Given the description of an element on the screen output the (x, y) to click on. 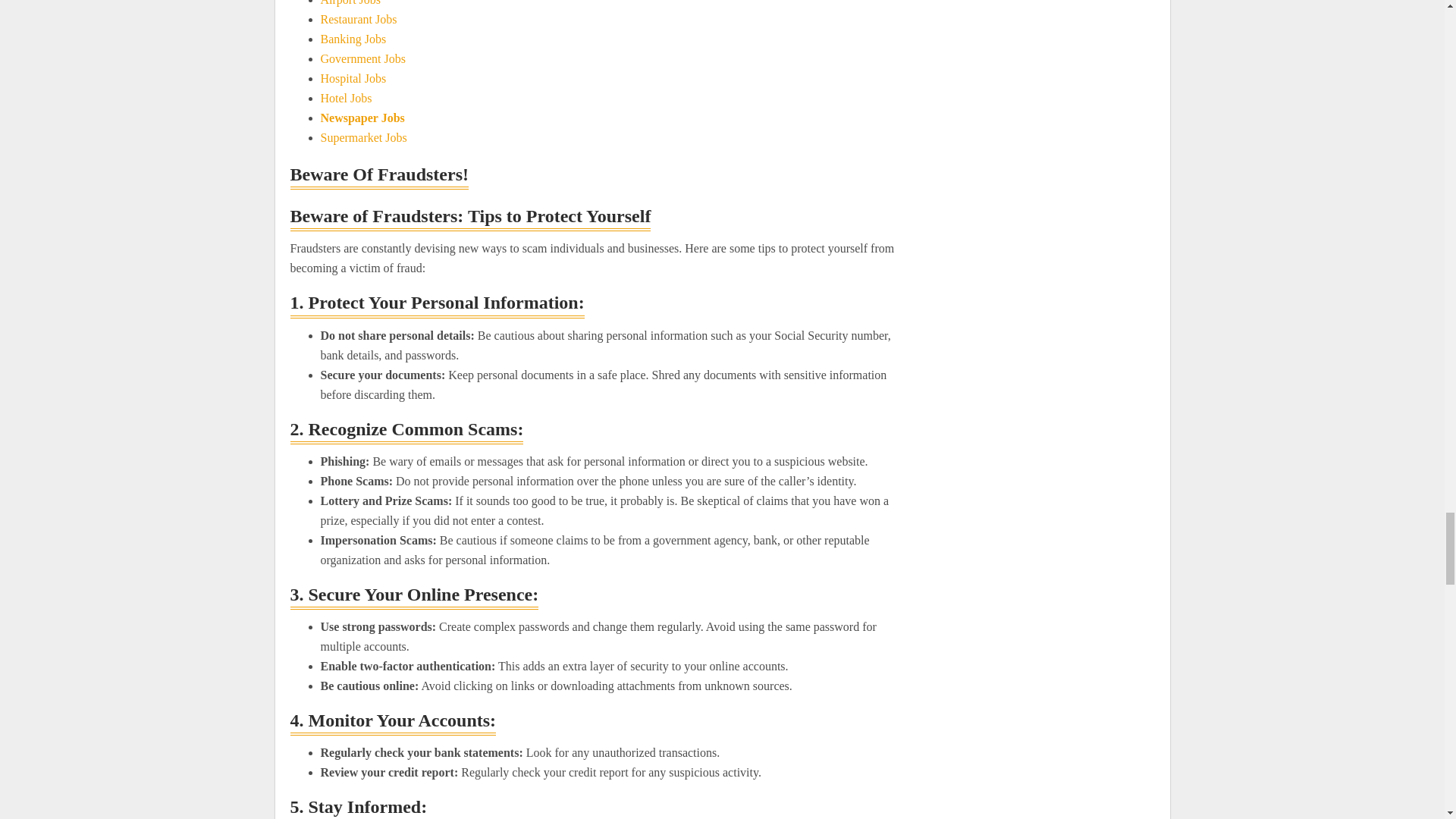
Airport Jobs (350, 2)
